Given the description of an element on the screen output the (x, y) to click on. 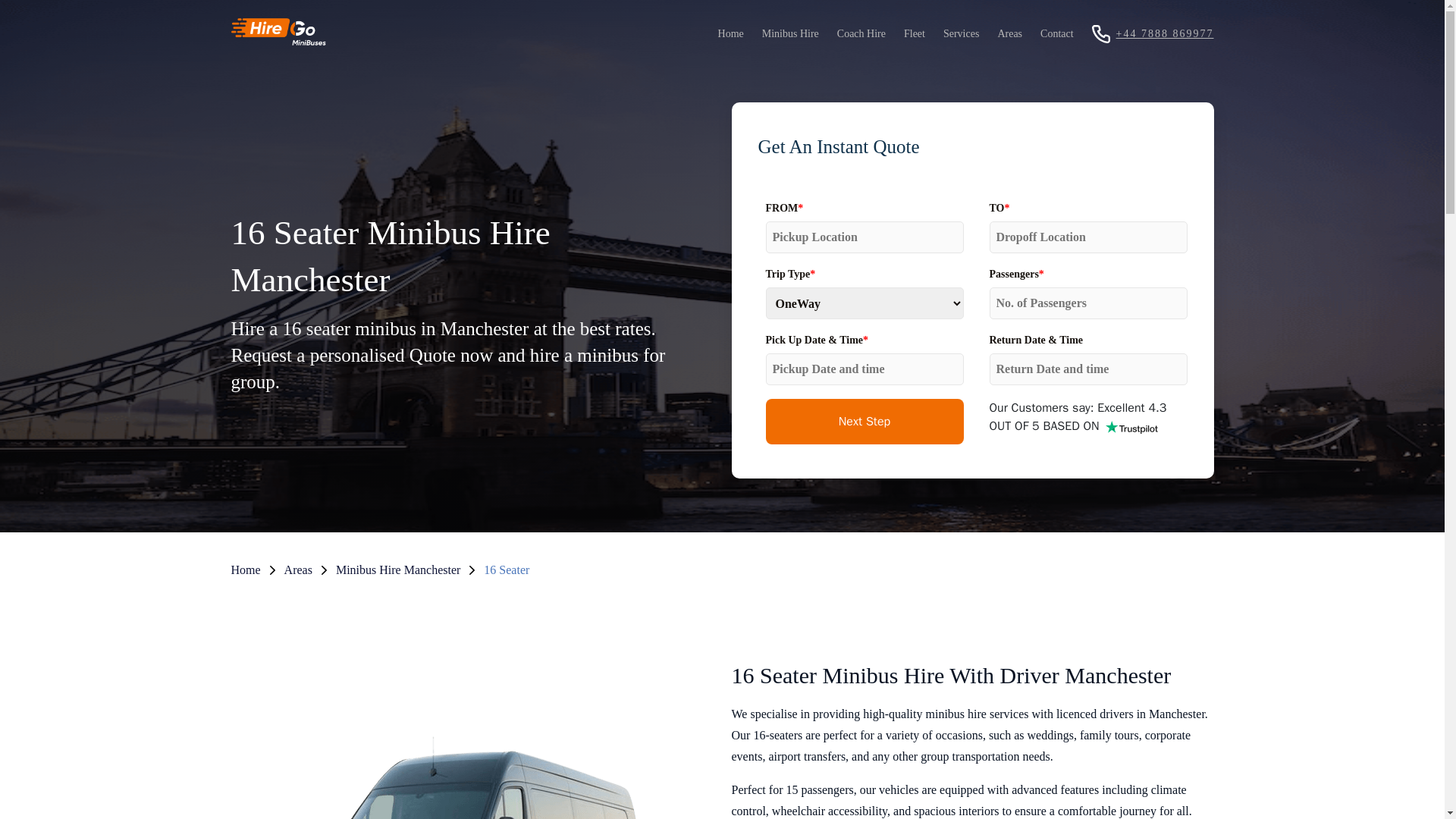
Fleet (914, 33)
Coach Hire (861, 33)
Contact (1056, 33)
Home (245, 569)
Areas (1009, 33)
Minibus Hire Manchester (398, 569)
Areas (298, 569)
Next Step (864, 421)
Services (961, 33)
Home (730, 33)
